Given the description of an element on the screen output the (x, y) to click on. 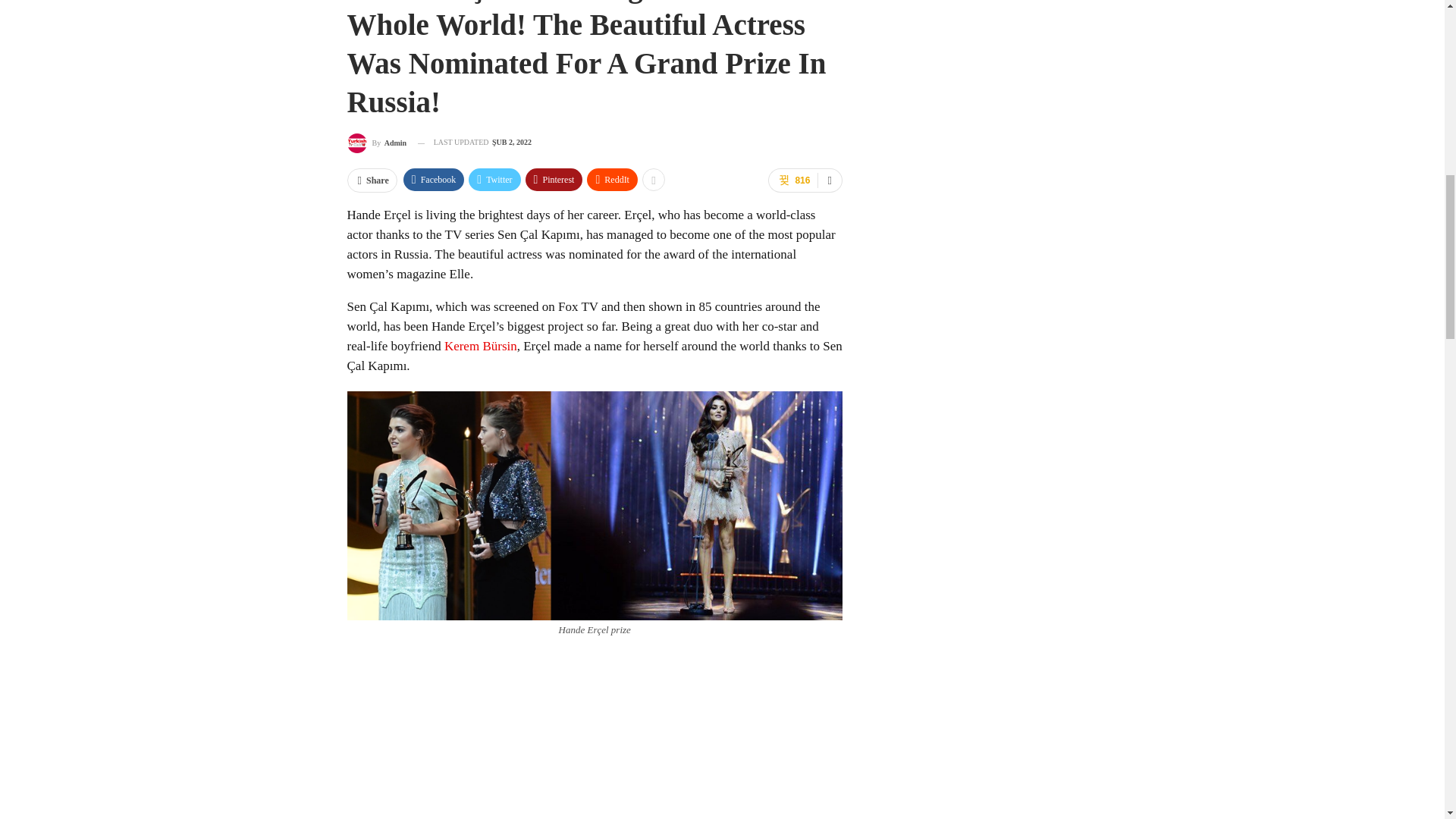
Pinterest (554, 179)
Facebook (433, 179)
Twitter (493, 179)
Advertisement (595, 734)
By Admin (377, 142)
Browse Author Articles (377, 142)
